Given the description of an element on the screen output the (x, y) to click on. 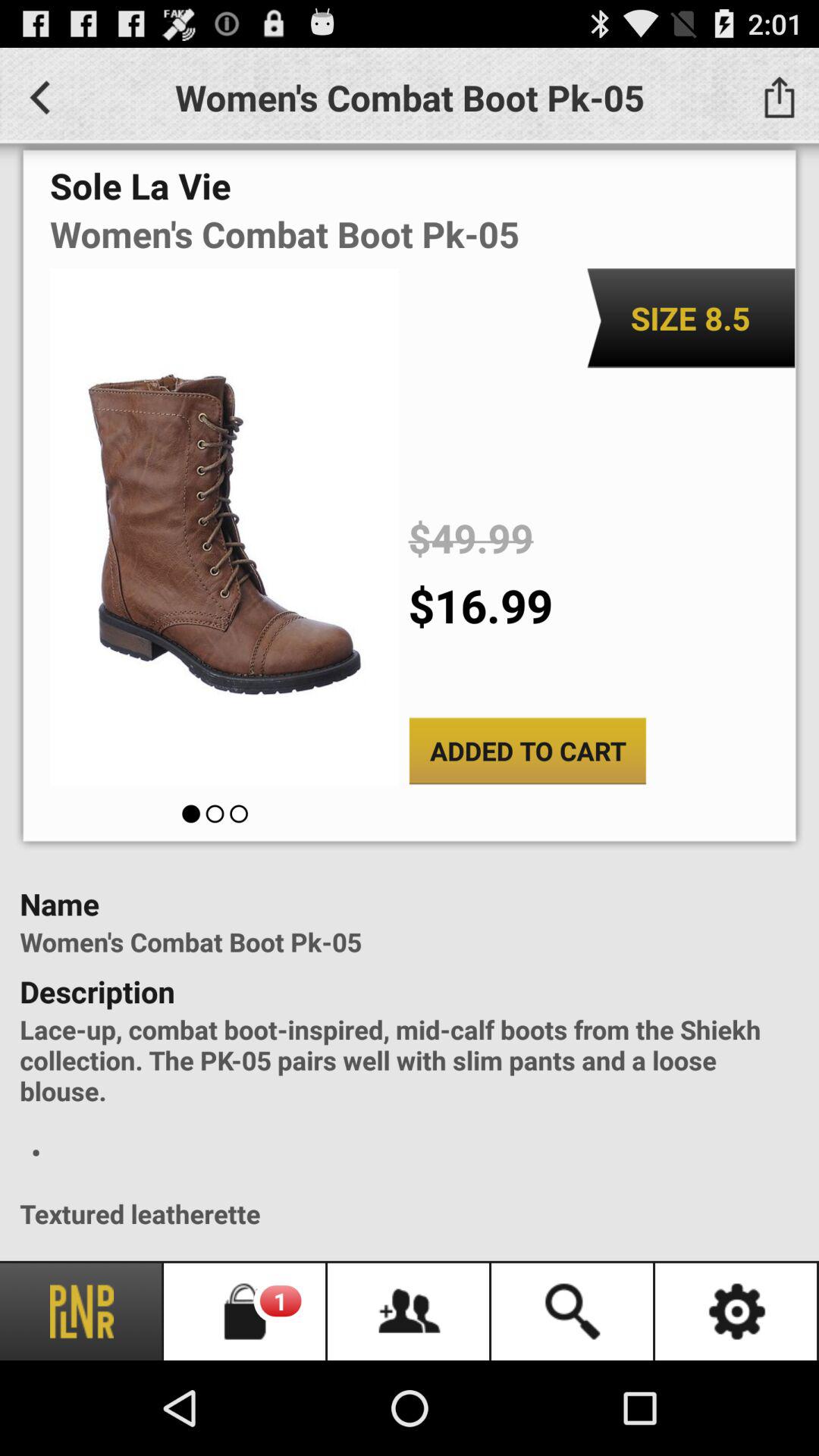
press the size 8.5 icon (690, 317)
